Given the description of an element on the screen output the (x, y) to click on. 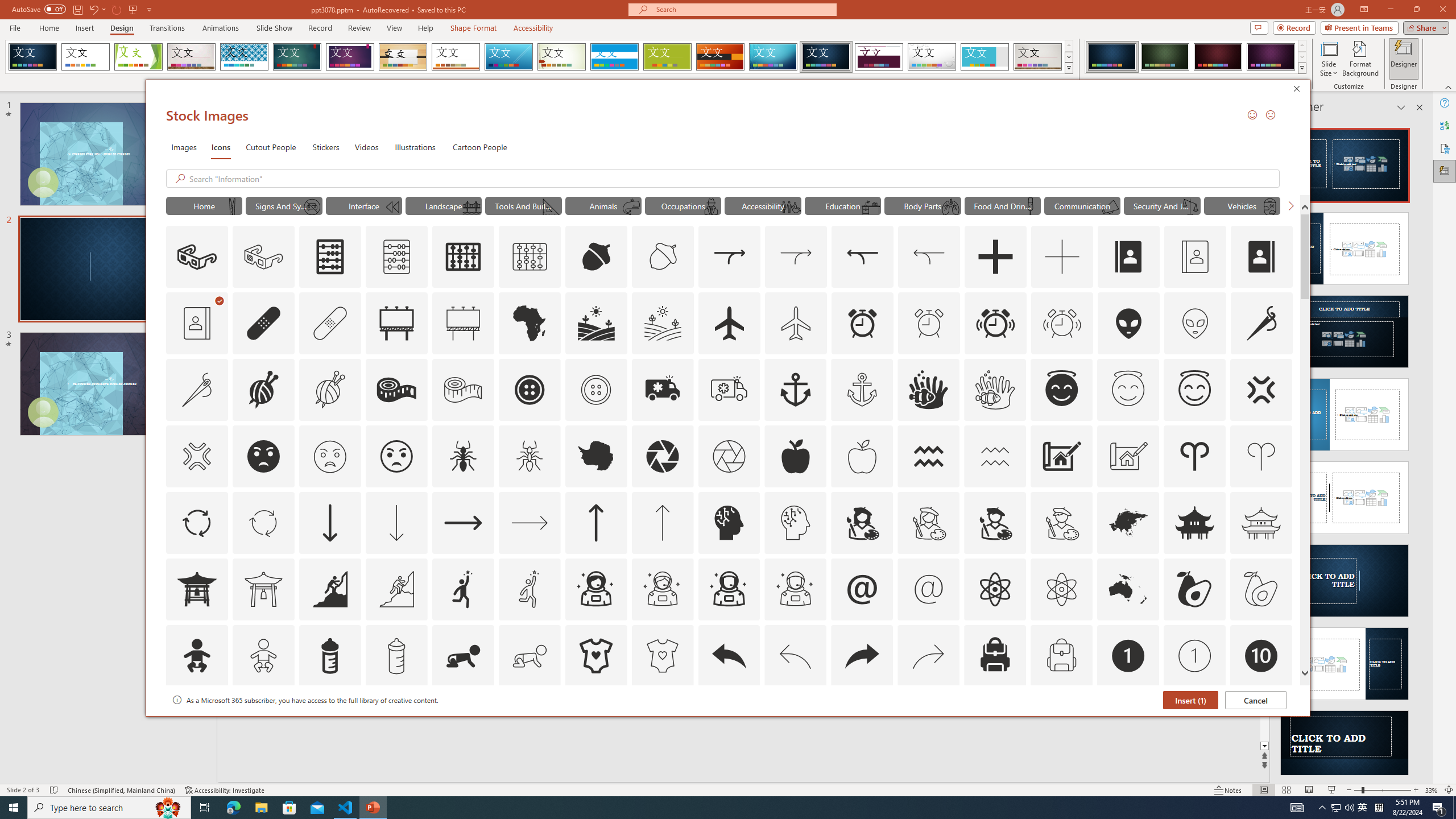
AutomationID: Icons_ArtistMale (995, 522)
AutomationID: Icons_Beginning_M (391, 206)
AutomationID: Icons_ArrowUp (595, 522)
AutomationID: Icons_Back_RTL_M (928, 655)
"Food And Drinks" Icons. (1002, 205)
AutomationID: Icons_Badge9_M (1260, 721)
